Given the description of an element on the screen output the (x, y) to click on. 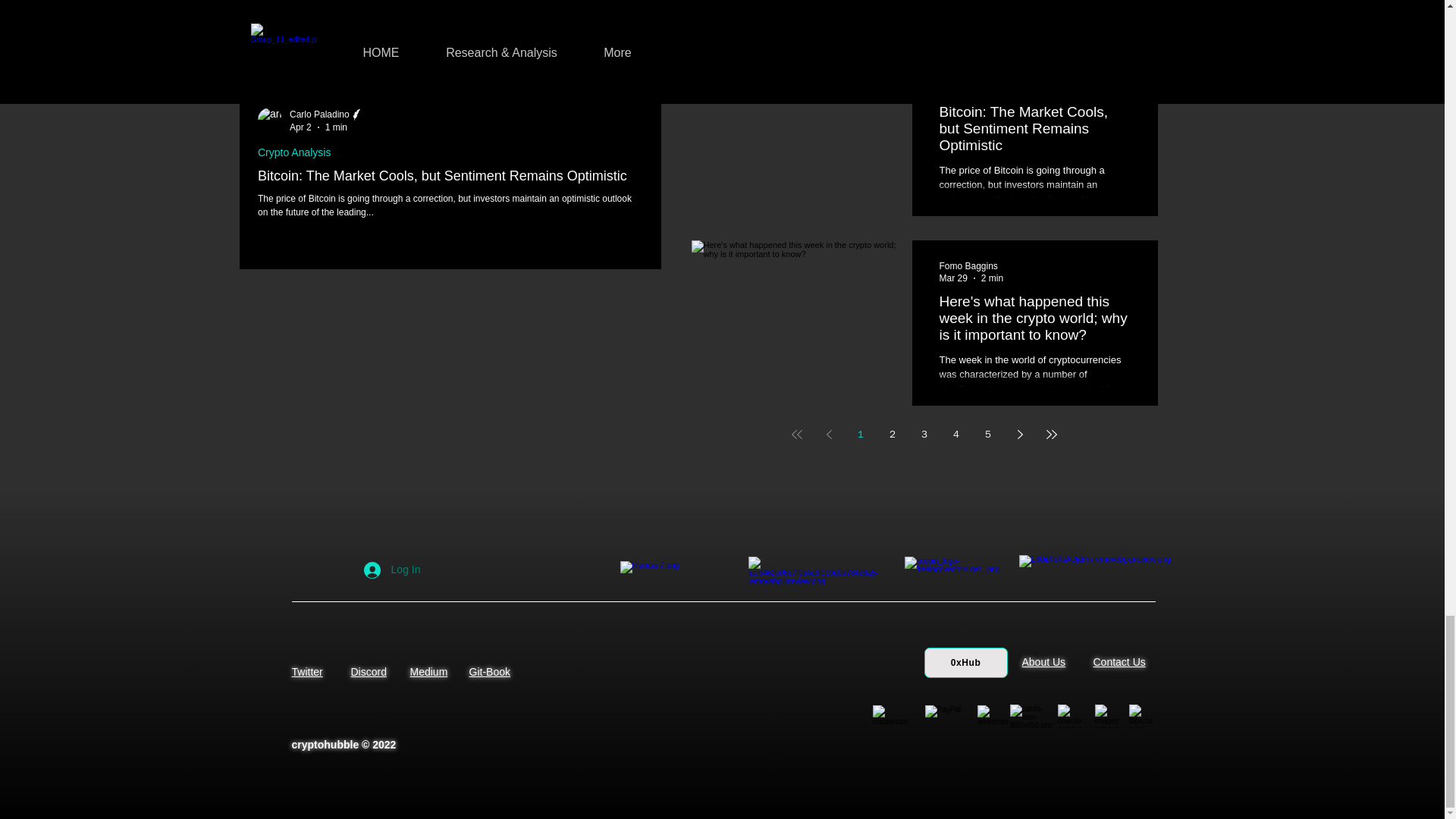
2 min (992, 277)
Carlo Paladino (968, 75)
5 (987, 433)
Mar 29 (952, 277)
2 min (763, 127)
Apr 2 (300, 127)
Carlo Paladino (326, 114)
1 min (335, 127)
Fomo Baggins (968, 266)
4 (955, 433)
Crypto Analysis (293, 152)
Bitcoin: The Market Cools, but Sentiment Remains Optimistic (1034, 133)
Bitcoin: The Market Cools, but Sentiment Remains Optimistic (450, 176)
